Given the description of an element on the screen output the (x, y) to click on. 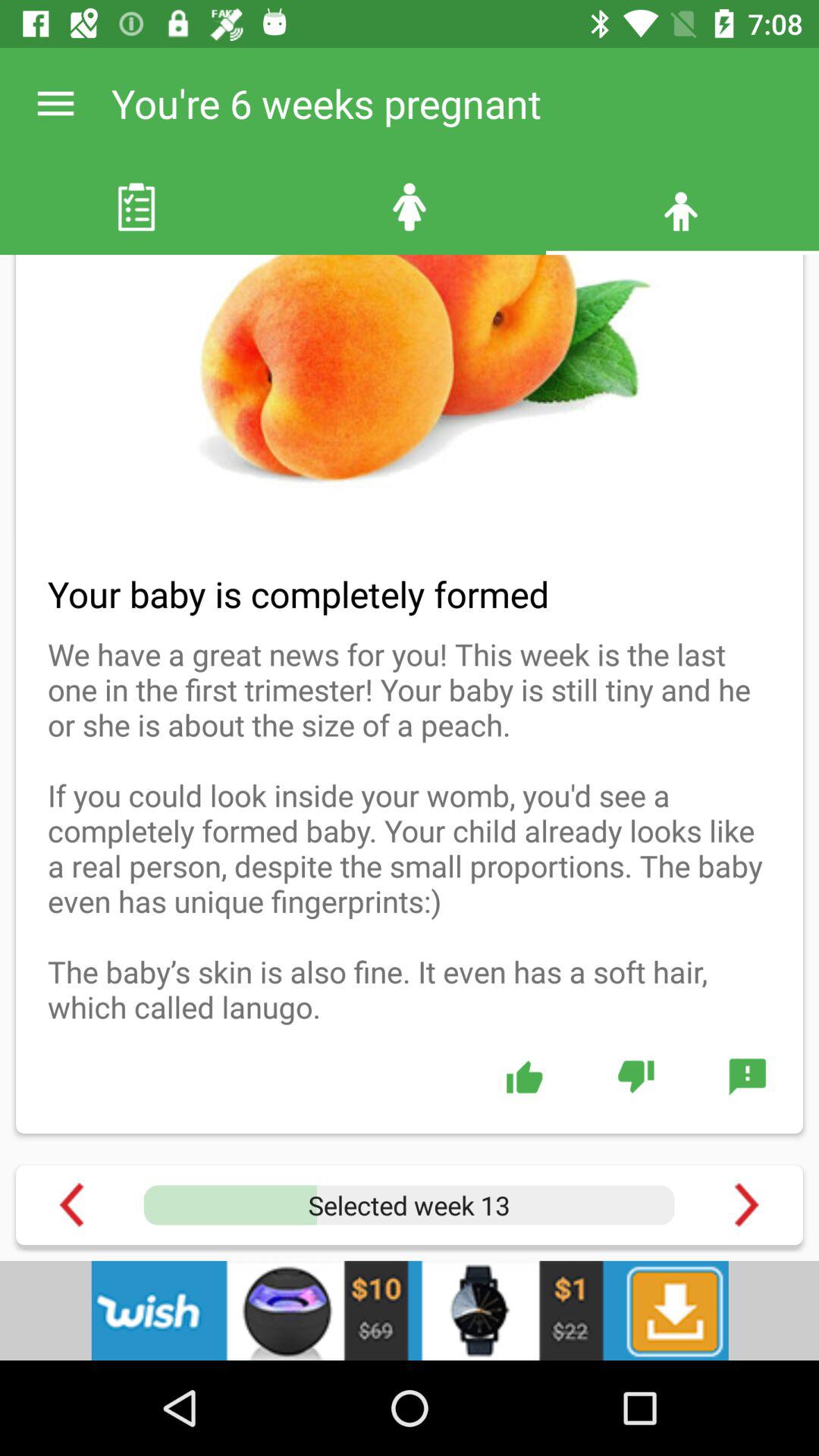
menu page (747, 1076)
